Given the description of an element on the screen output the (x, y) to click on. 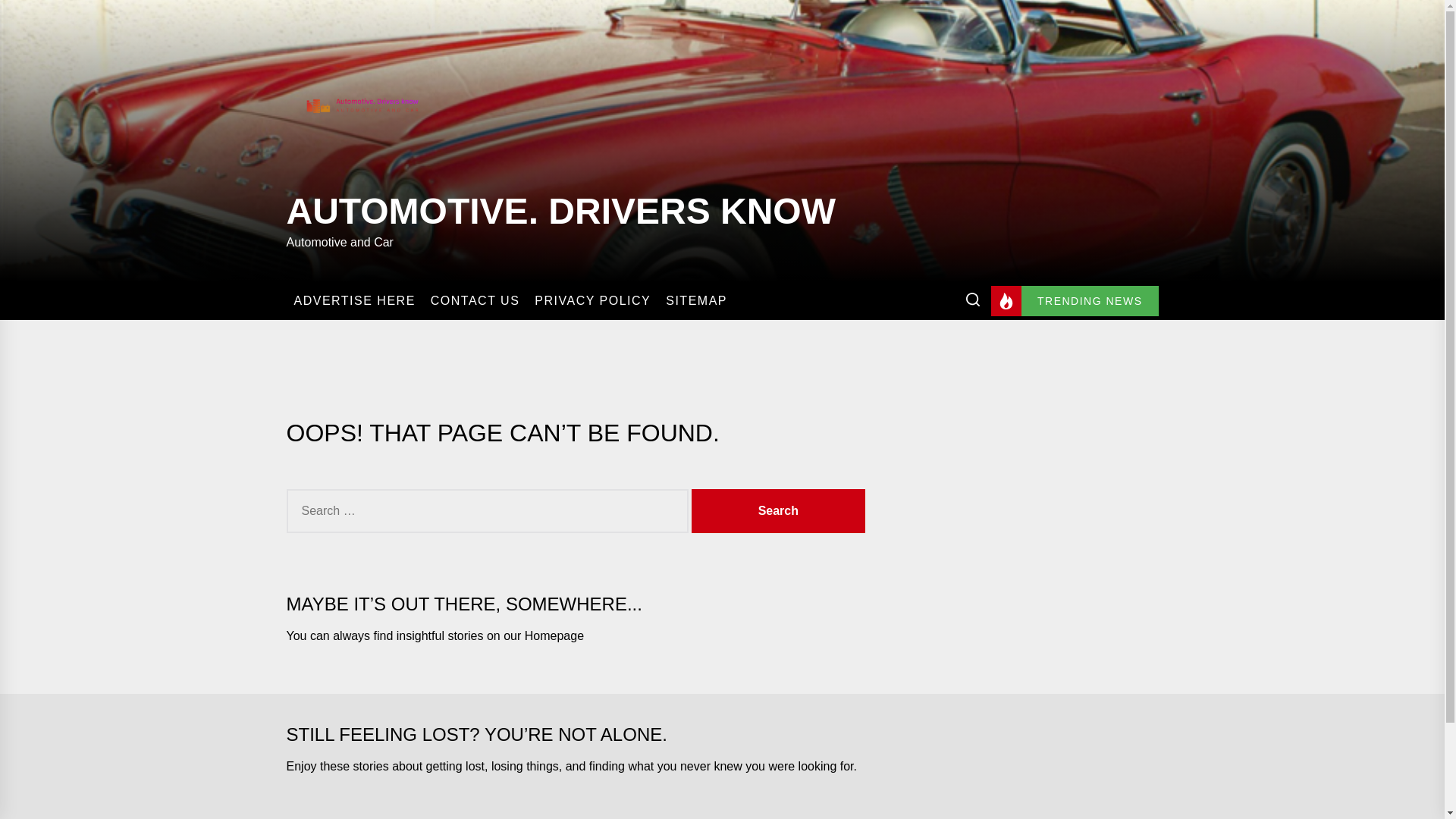
Search (777, 510)
ADVERTISE HERE (354, 300)
CONTACT US (474, 300)
AUTOMOTIVE. DRIVERS KNOW (560, 207)
PRIVACY POLICY (592, 300)
Search (777, 510)
SITEMAP (695, 300)
TRENDING NEWS (1074, 300)
